Given the description of an element on the screen output the (x, y) to click on. 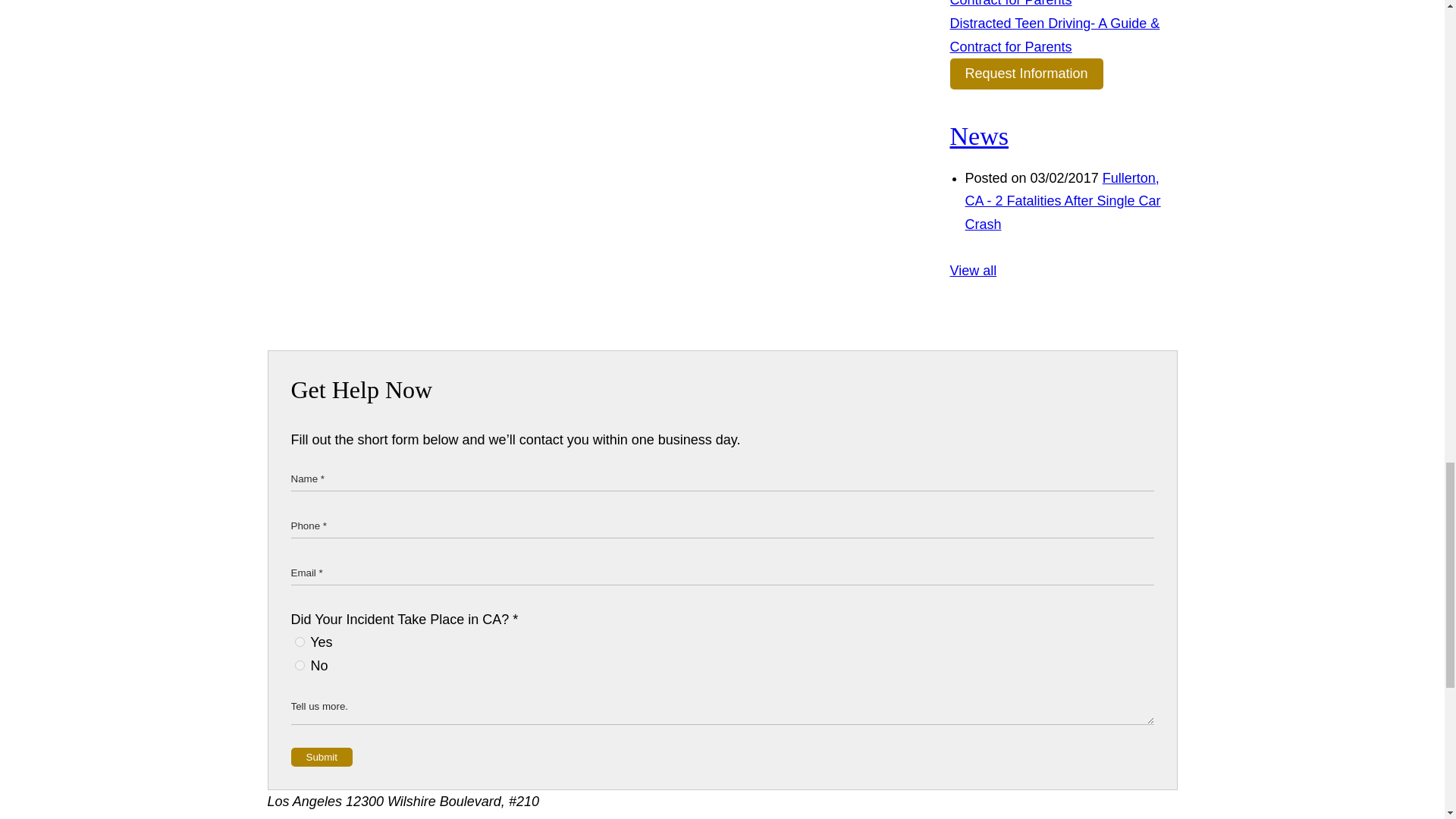
No (299, 665)
Yes (299, 642)
